Given the description of an element on the screen output the (x, y) to click on. 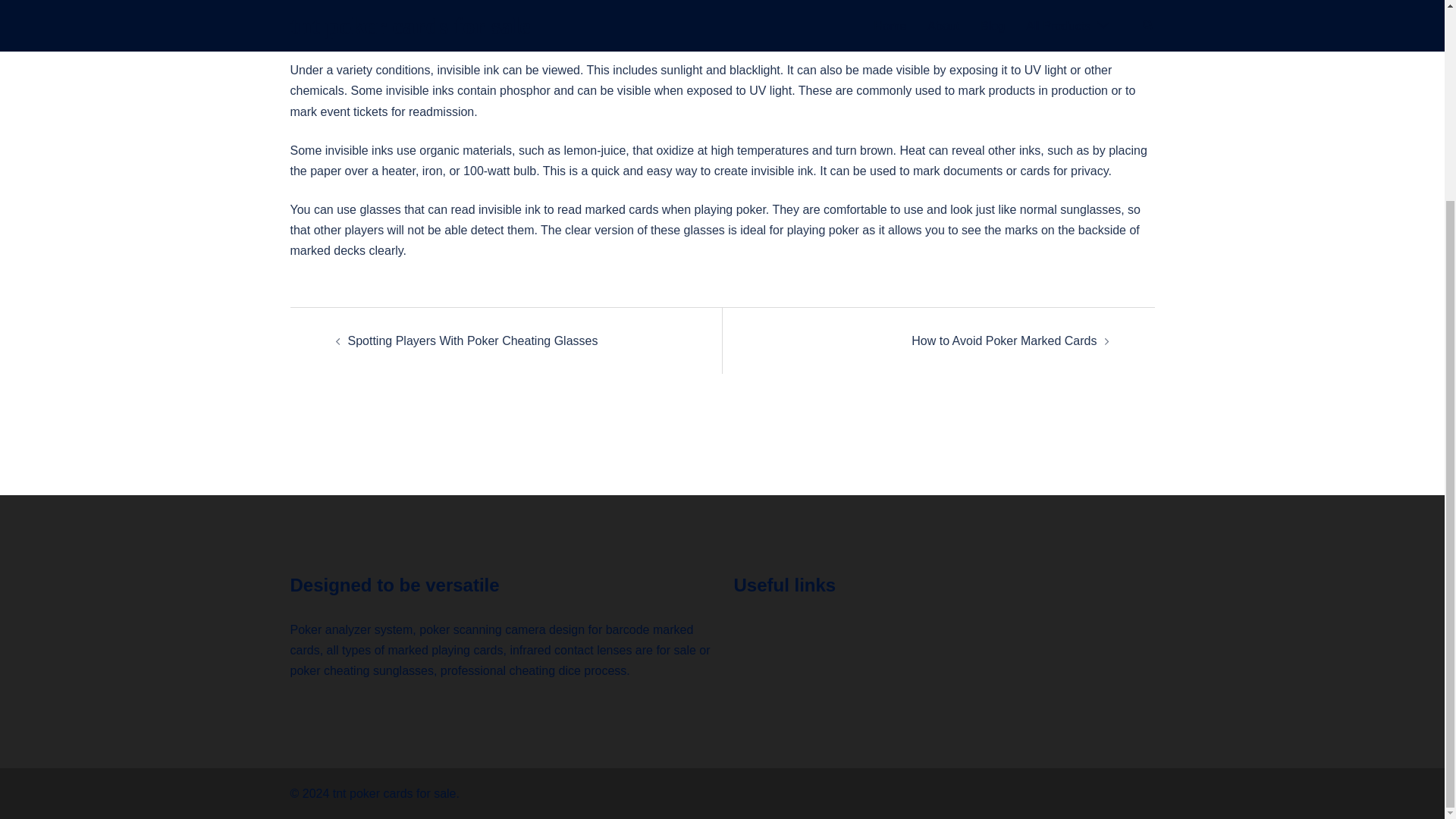
Spotting Players With Poker Cheating Glasses (471, 340)
